Given the description of an element on the screen output the (x, y) to click on. 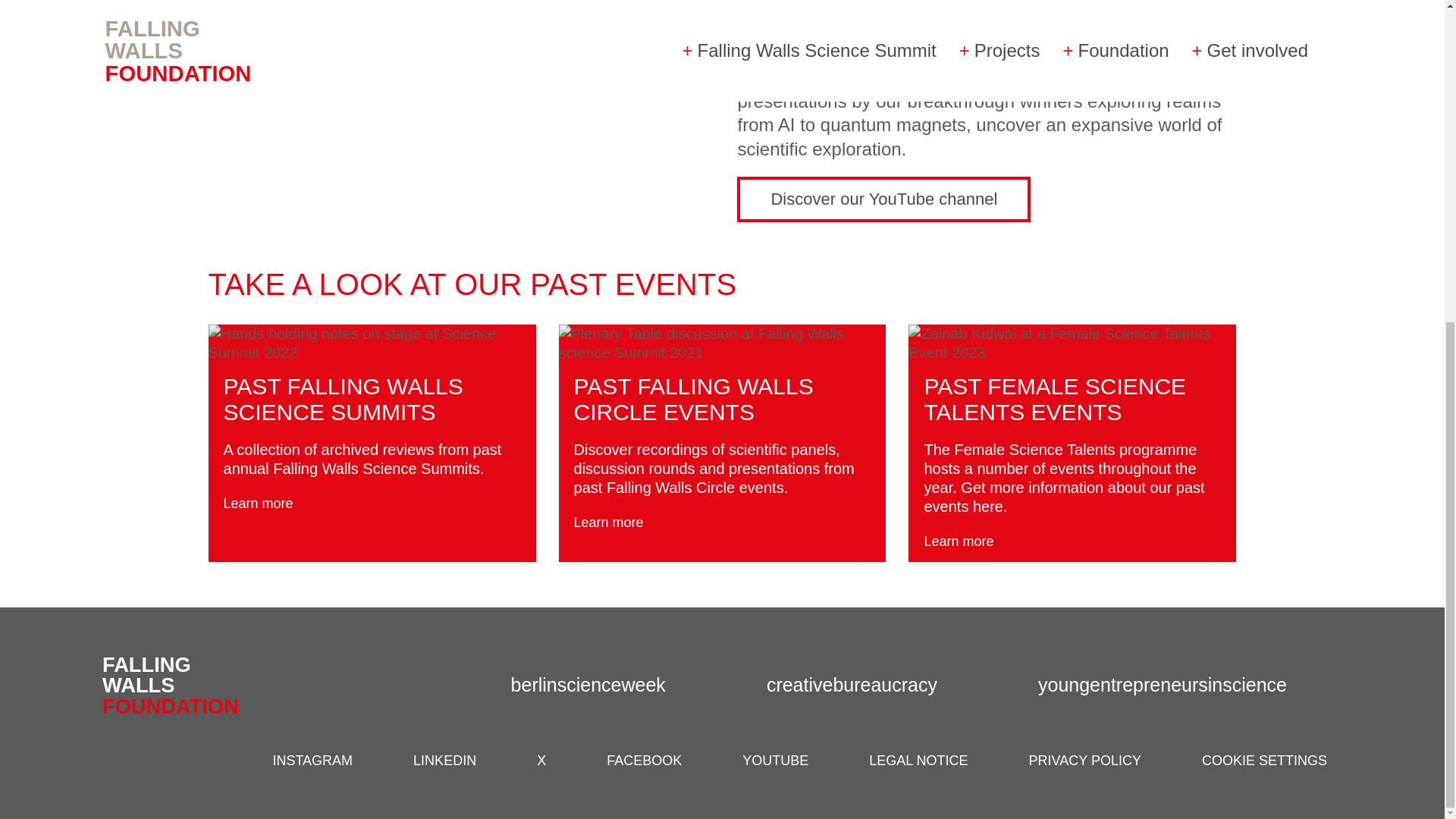
Discover our YouTube channel (883, 198)
youngentrepreneursinscience.com (1181, 684)
PAST FALLING WALLS CIRCLE EVENTS (693, 399)
PAST FEMALE SCIENCE TALENTS EVENTS (1054, 399)
Home (175, 685)
Learn more (269, 503)
Cookie settings (1264, 760)
Learn more (969, 540)
creativebureaucracy (871, 684)
Privacy Policy (1085, 760)
